Given the description of an element on the screen output the (x, y) to click on. 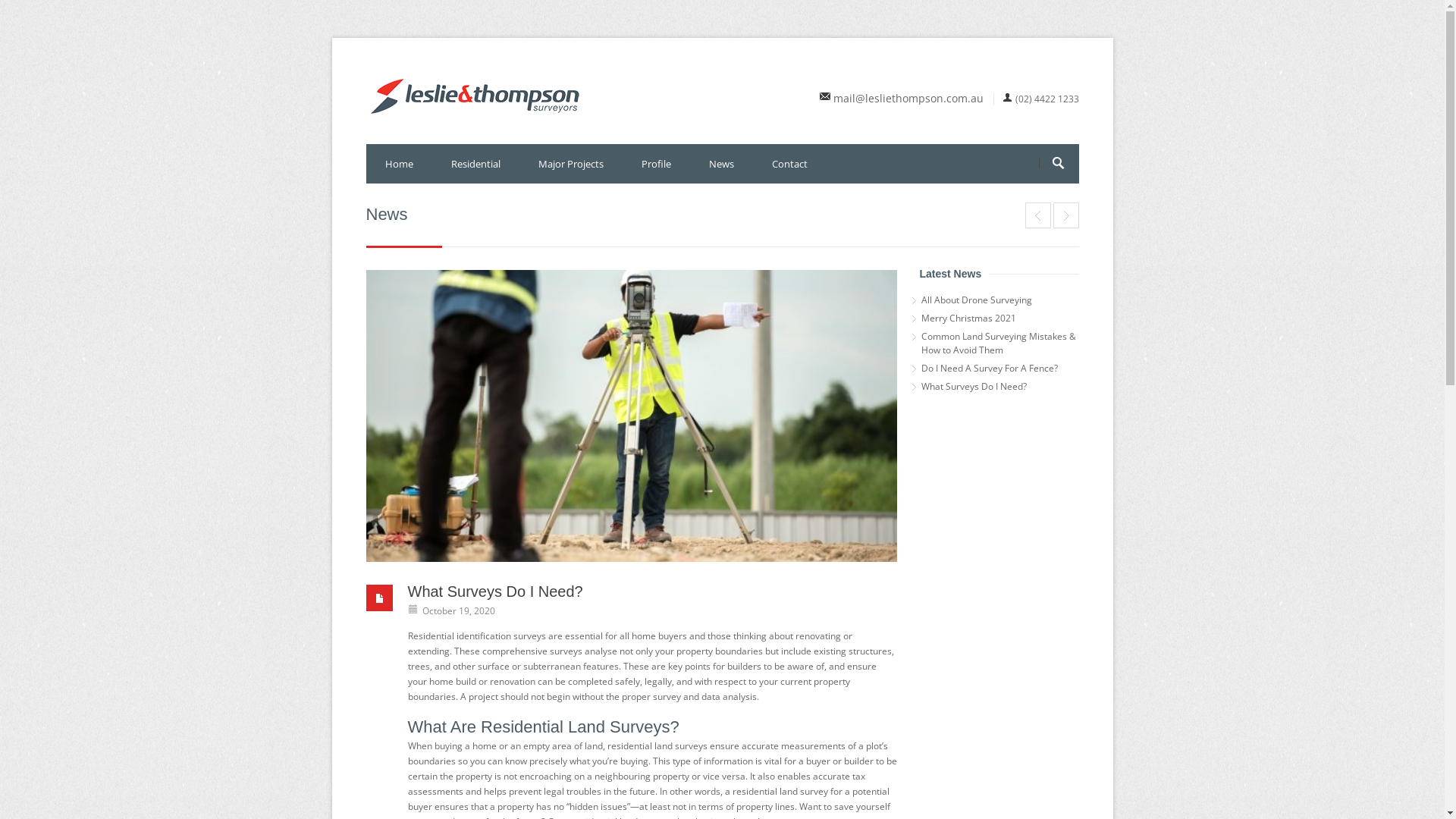
Residential Element type: text (475, 163)
mail@lesliethompson.com.au Element type: text (907, 98)
All About Drone Surveying Element type: text (999, 300)
Major Projects Element type: text (569, 163)
Do I Need A Survey For A Fence? Element type: text (999, 368)
Merry Christmas 2021 Element type: text (999, 318)
October 19, 2020 Element type: text (457, 610)
What Surveys Do I Need? Element type: text (999, 386)
Surveying After Bushfires  Element type: text (1065, 215)
Common Land Surveying Mistakes & How to Avoid Them Element type: text (999, 343)
What Surveys Do I Need? Element type: hover (630, 415)
Profile Element type: text (655, 163)
Do I Need A Survey For A Fence? Element type: text (1038, 215)
Contact Element type: text (788, 163)
(02) 4422 1233 Element type: text (1046, 98)
Home Element type: text (398, 163)
News Element type: text (721, 163)
What Surveys Do I Need? Element type: text (495, 591)
